Given the description of an element on the screen output the (x, y) to click on. 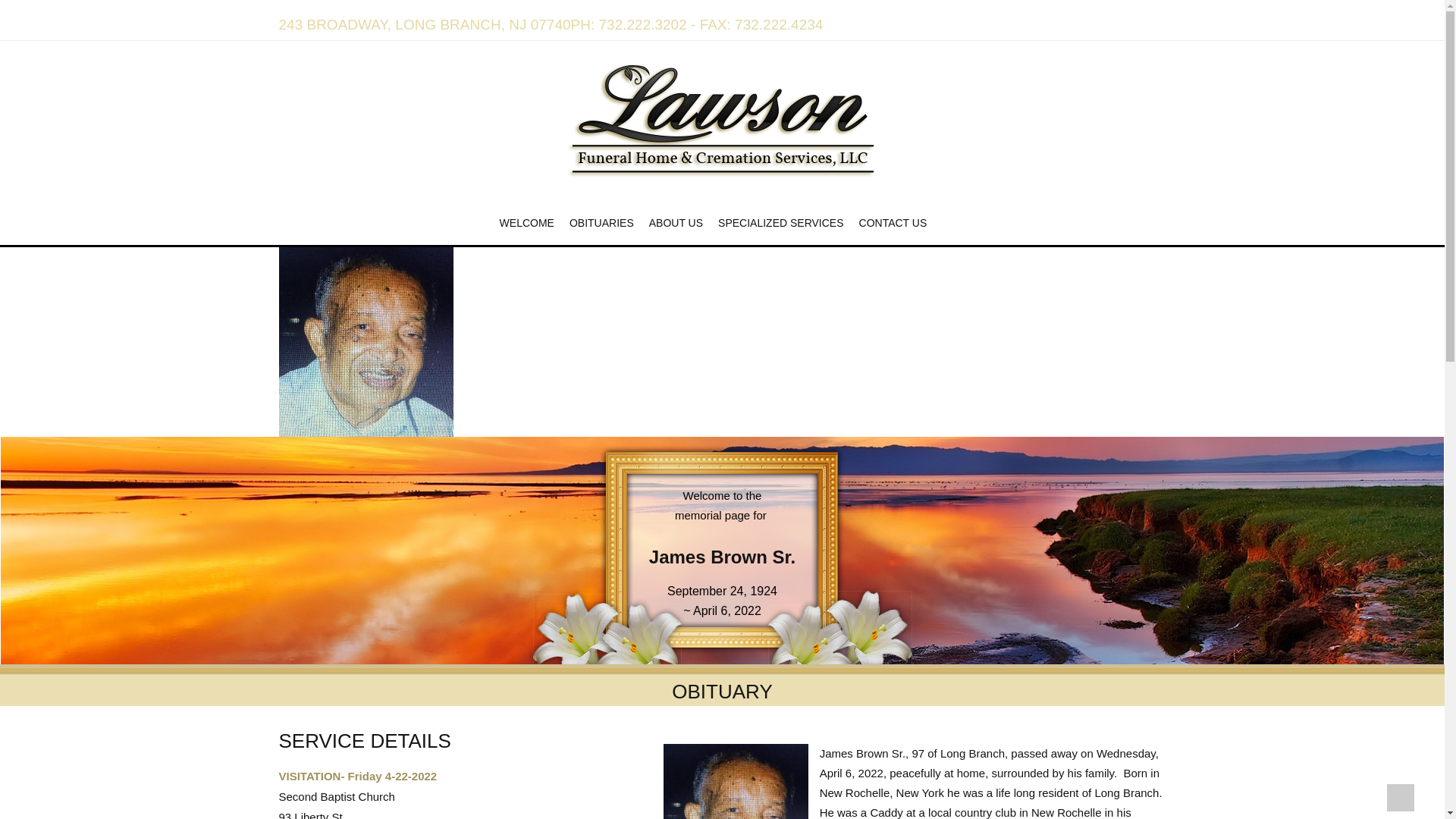
SPECIALIZED SERVICES (780, 223)
OBITUARIES (602, 223)
CONTACT US (892, 223)
WELCOME (527, 223)
ABOUT US (676, 223)
